Given the description of an element on the screen output the (x, y) to click on. 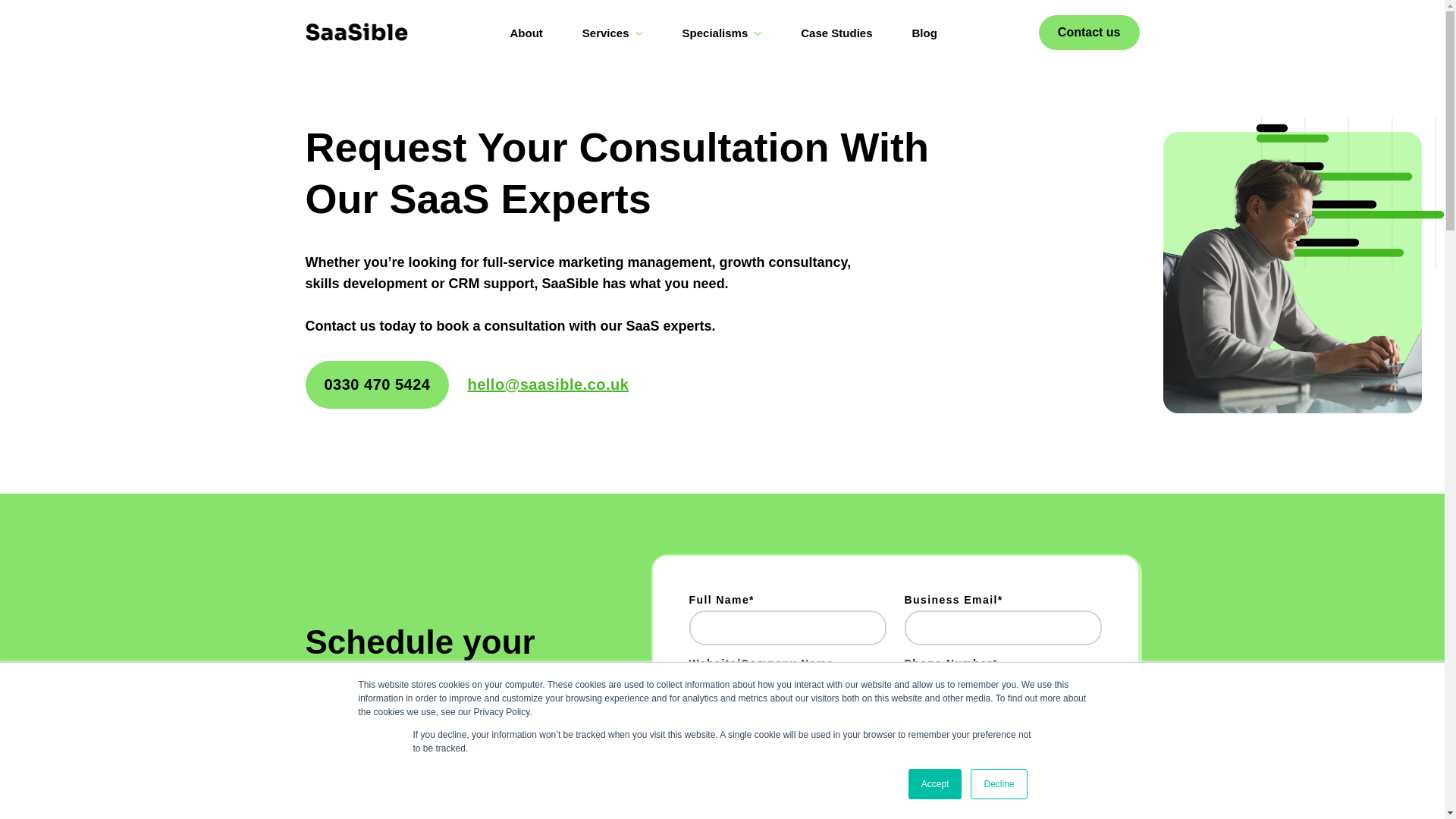
Contact us (1089, 32)
Content Marketing (798, 795)
Specialisms (711, 33)
Paid Social (929, 759)
Case Studies (836, 33)
Not Sure (944, 795)
Accept (935, 784)
0330 470 5424 (376, 384)
Digital PR (699, 795)
Services (601, 33)
